Given the description of an element on the screen output the (x, y) to click on. 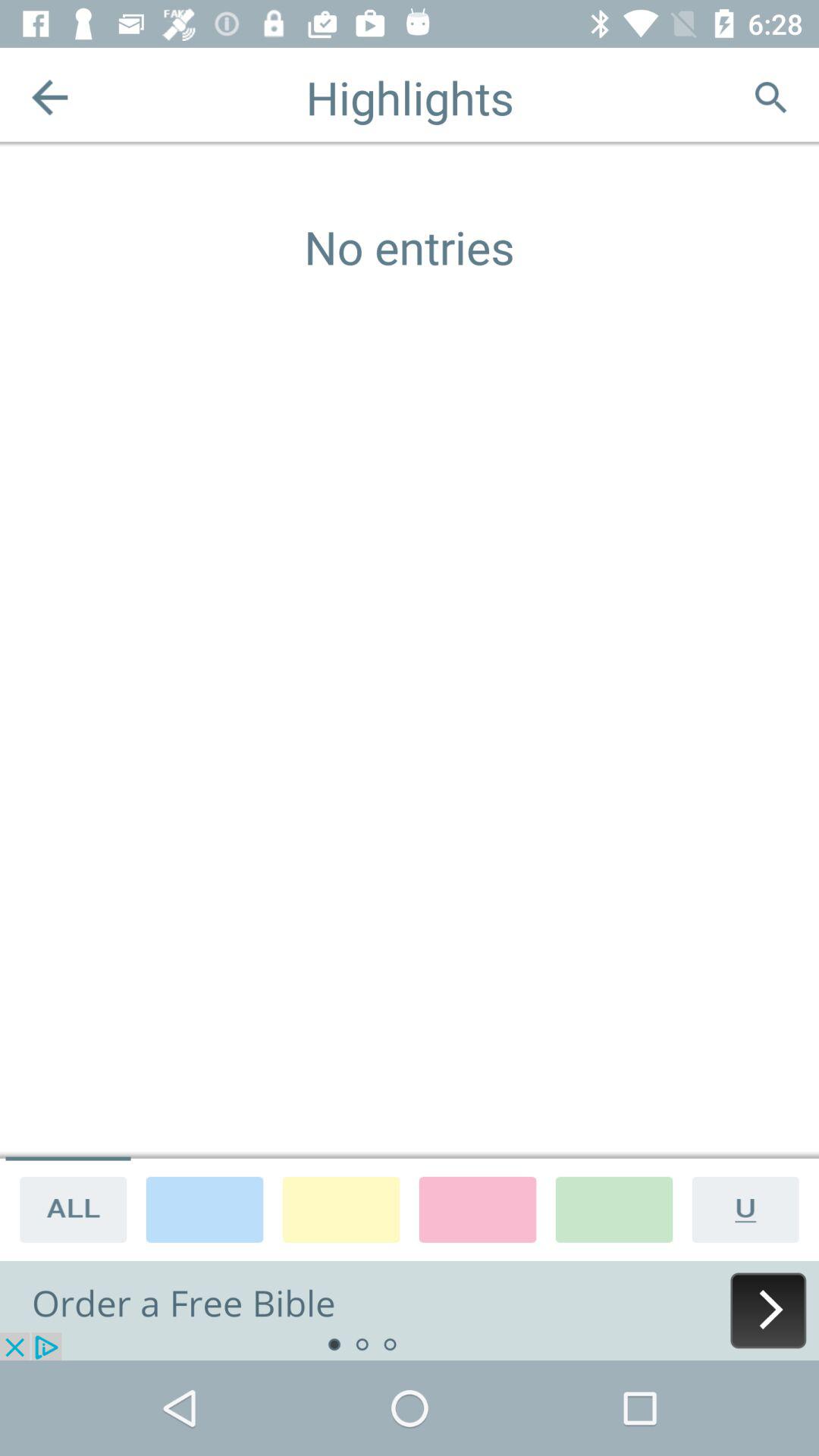
color icons (204, 1208)
